Given the description of an element on the screen output the (x, y) to click on. 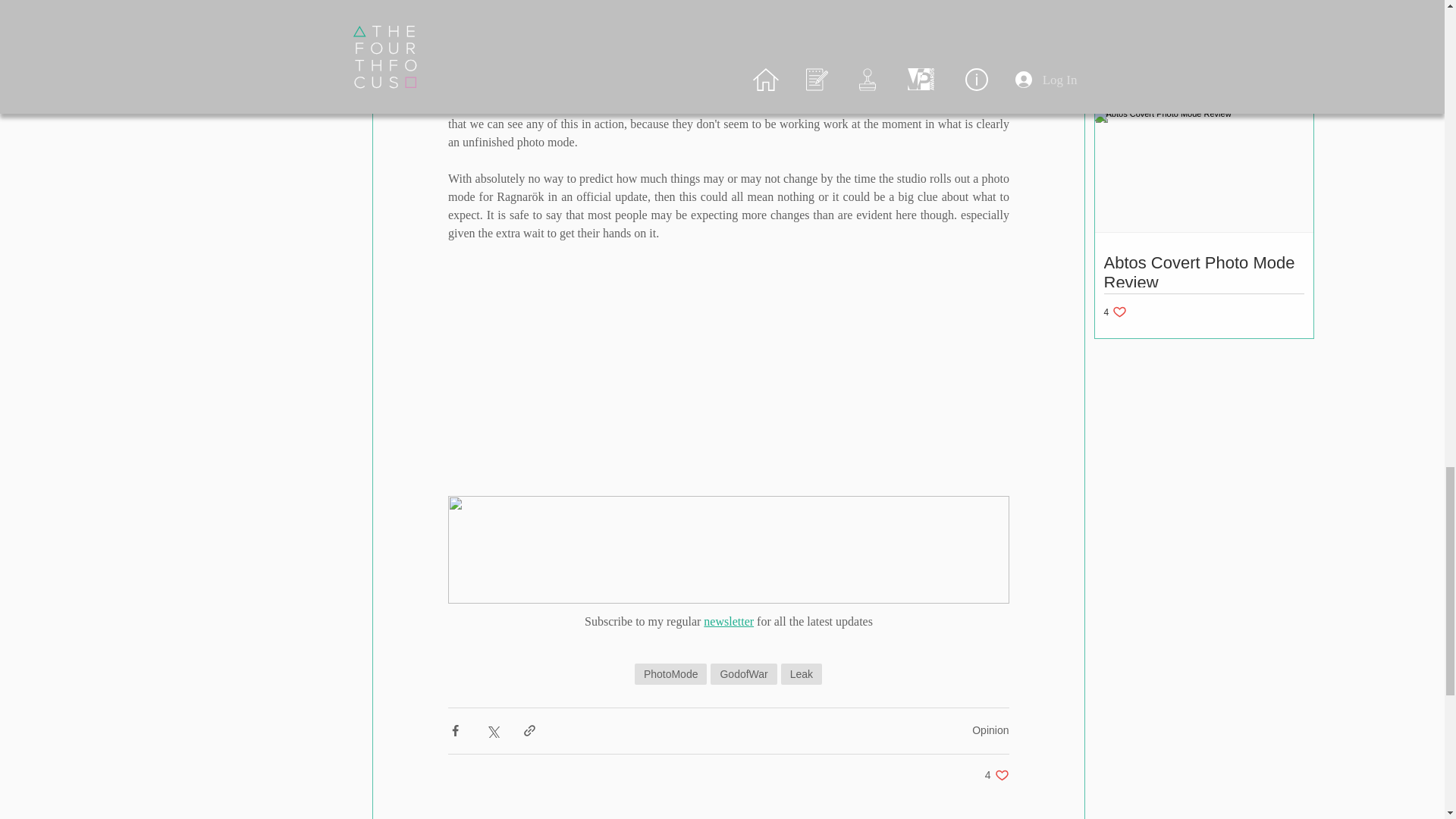
newsletter (728, 621)
Opinion (990, 729)
PhotoMode (670, 673)
Leak (997, 775)
GodofWar (801, 673)
